Given the description of an element on the screen output the (x, y) to click on. 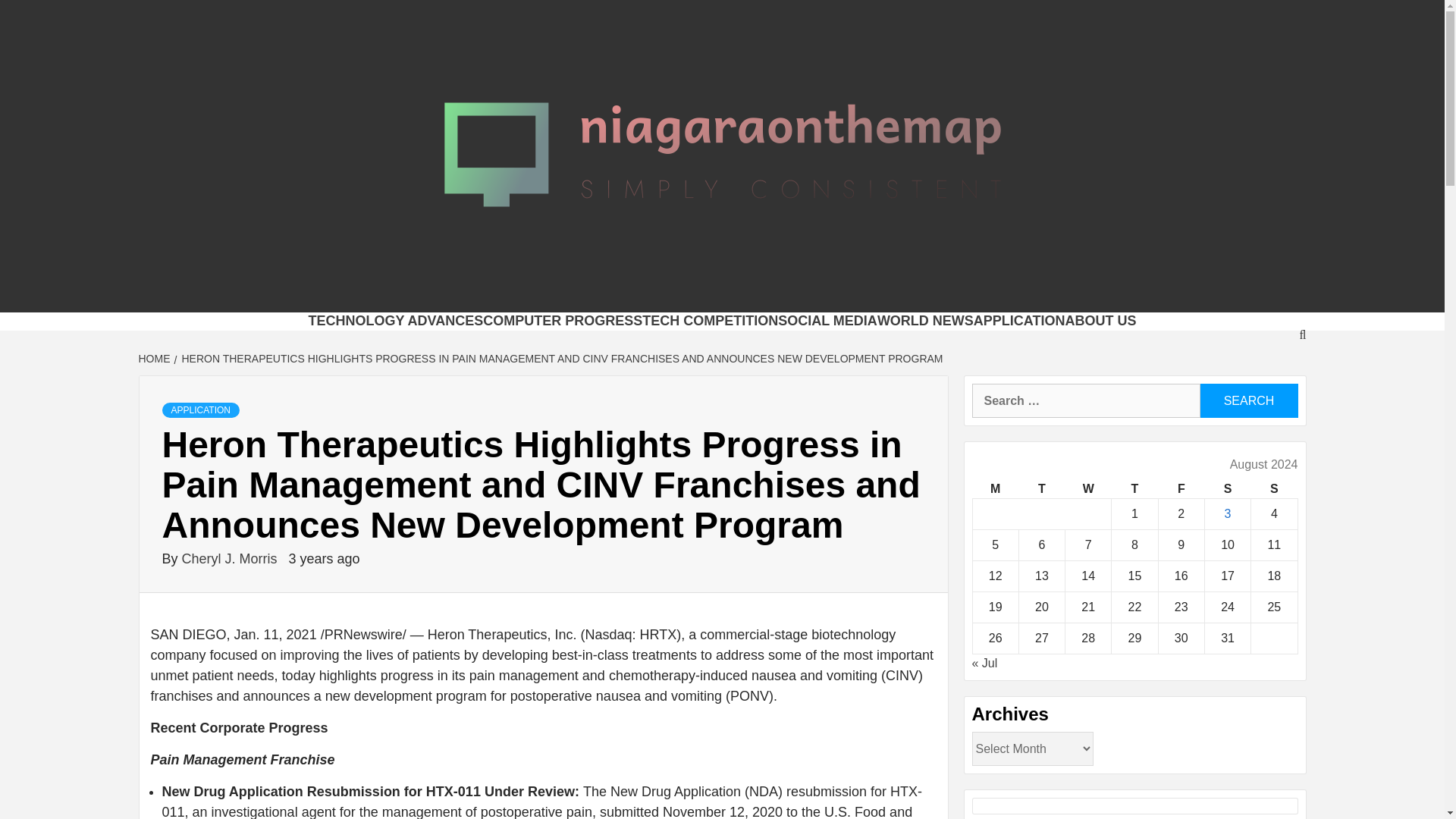
APPLICATION (200, 409)
Monday (994, 488)
Saturday (1227, 488)
Search (1248, 400)
Cheryl J. Morris (231, 558)
HOME (155, 358)
WORLD NEWS (925, 320)
ABOUT US (1101, 320)
Sunday (1273, 488)
Thursday (1134, 488)
COMPUTER PROGRESS (562, 320)
APPLICATION (1019, 320)
Tuesday (1040, 488)
TECHNOLOGY ADVANCES (395, 320)
TECH COMPETITION (709, 320)
